Given the description of an element on the screen output the (x, y) to click on. 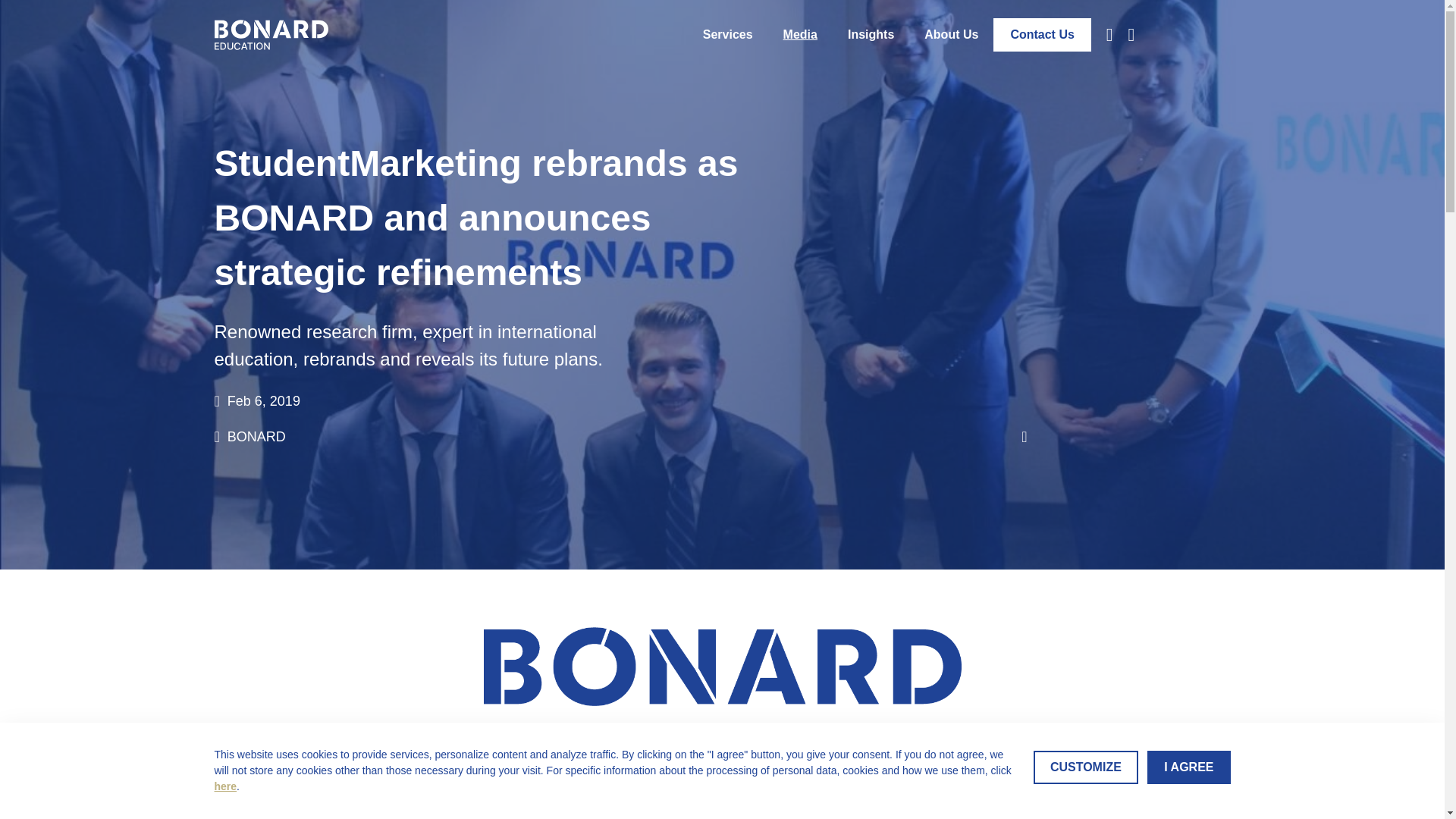
About Us (943, 34)
Contact Us (1041, 34)
CUSTOMIZE (1085, 767)
BONARD (620, 436)
About Us (943, 34)
I AGREE (1188, 767)
Media (800, 34)
Insights (870, 34)
Insights (870, 34)
here (224, 786)
Services (735, 34)
logo (721, 666)
Media (800, 34)
Services (735, 34)
